Given the description of an element on the screen output the (x, y) to click on. 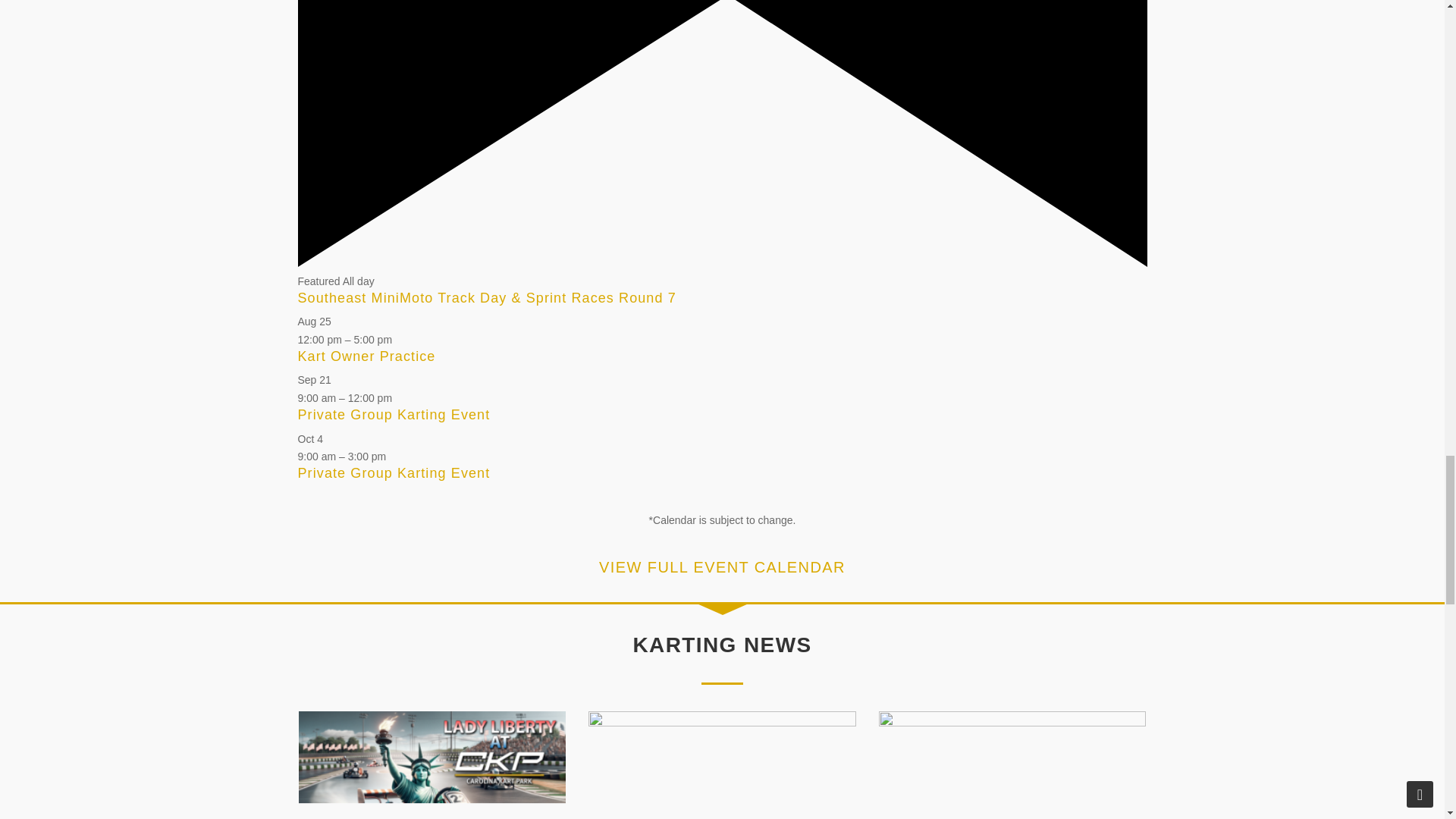
Featured (722, 263)
Private Group Karting Event (393, 473)
Private Group Karting Event (393, 414)
Kart Owner Practice (366, 355)
